Given the description of an element on the screen output the (x, y) to click on. 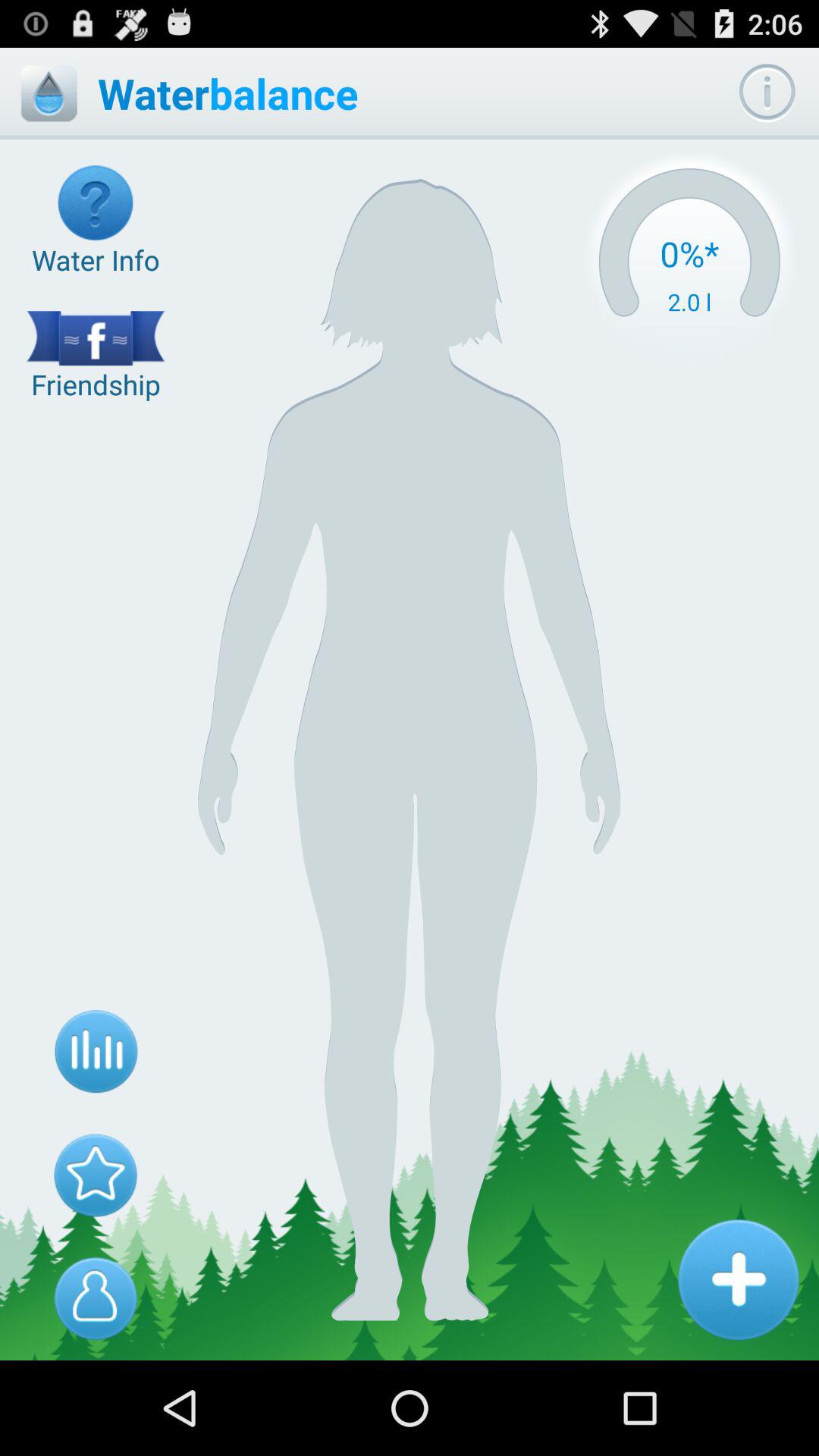
information (767, 93)
